Given the description of an element on the screen output the (x, y) to click on. 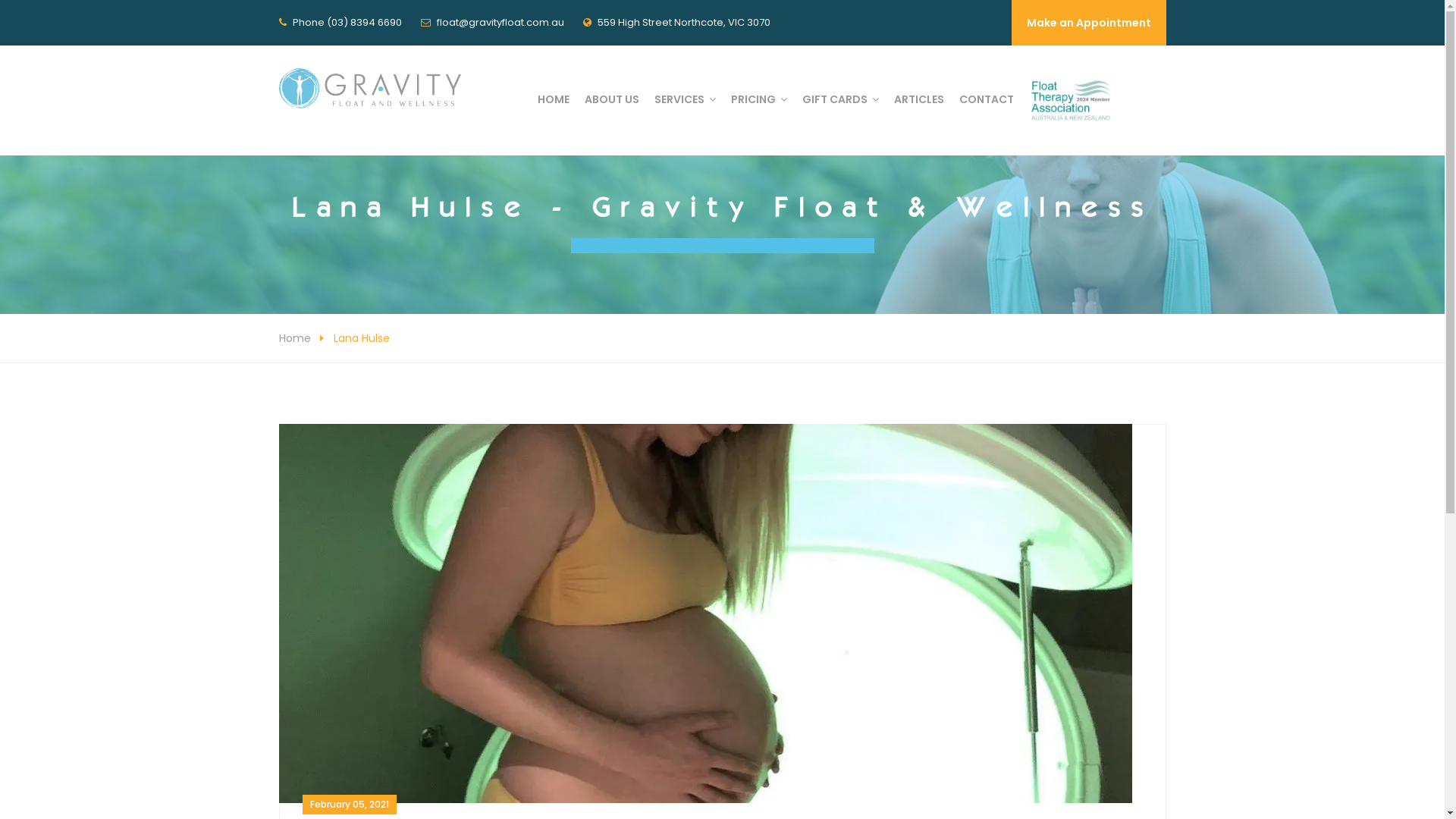
PRICING Element type: text (759, 99)
GIFT CARDS Element type: text (840, 99)
CONTACT Element type: text (985, 99)
ARTICLES Element type: text (918, 99)
Make an Appointment Element type: text (1088, 22)
ABOUT US Element type: text (610, 99)
HOME Element type: text (552, 99)
Home Element type: text (294, 337)
SERVICES Element type: text (684, 99)
